Given the description of an element on the screen output the (x, y) to click on. 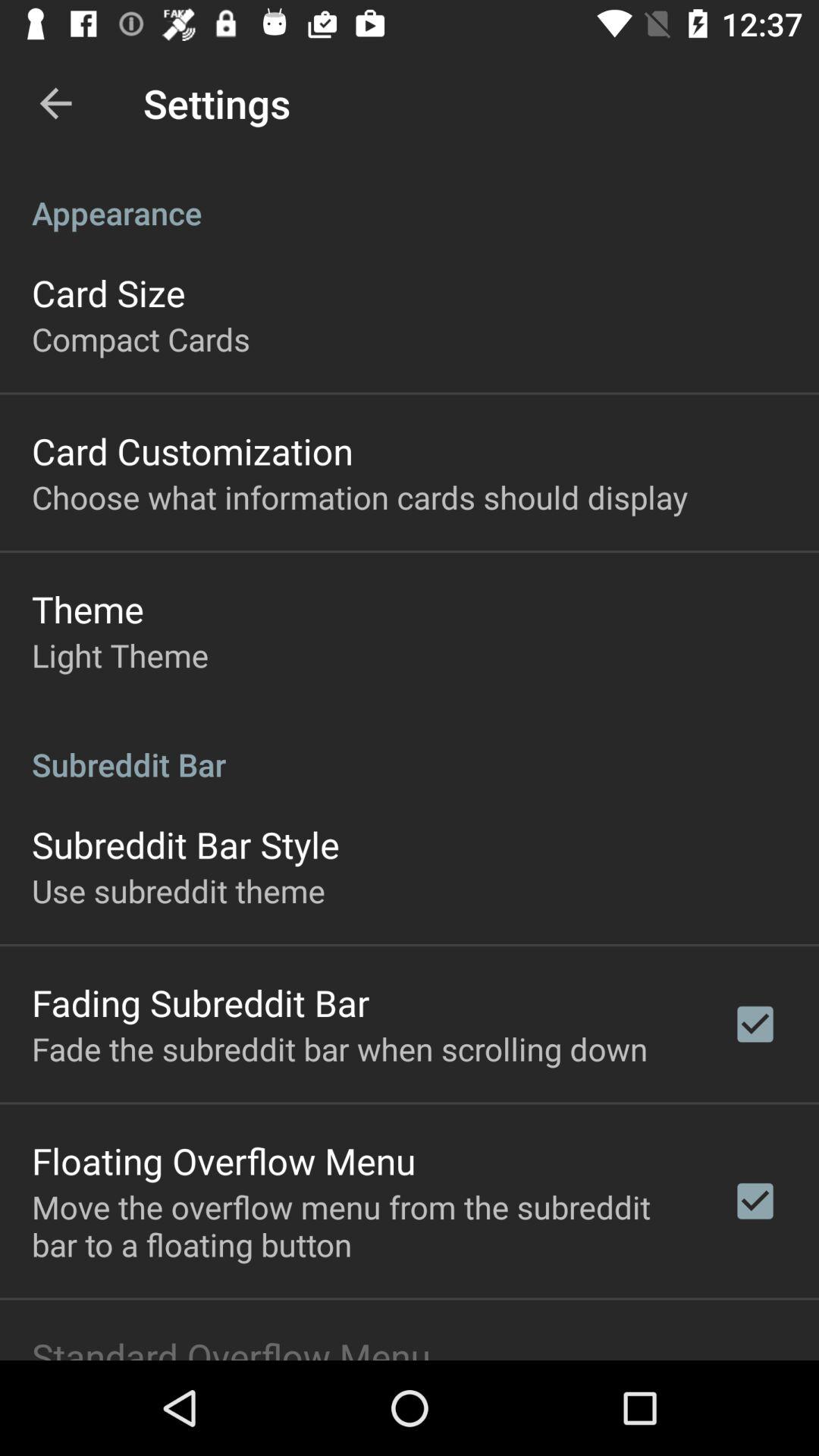
click the item above the card customization app (140, 338)
